Given the description of an element on the screen output the (x, y) to click on. 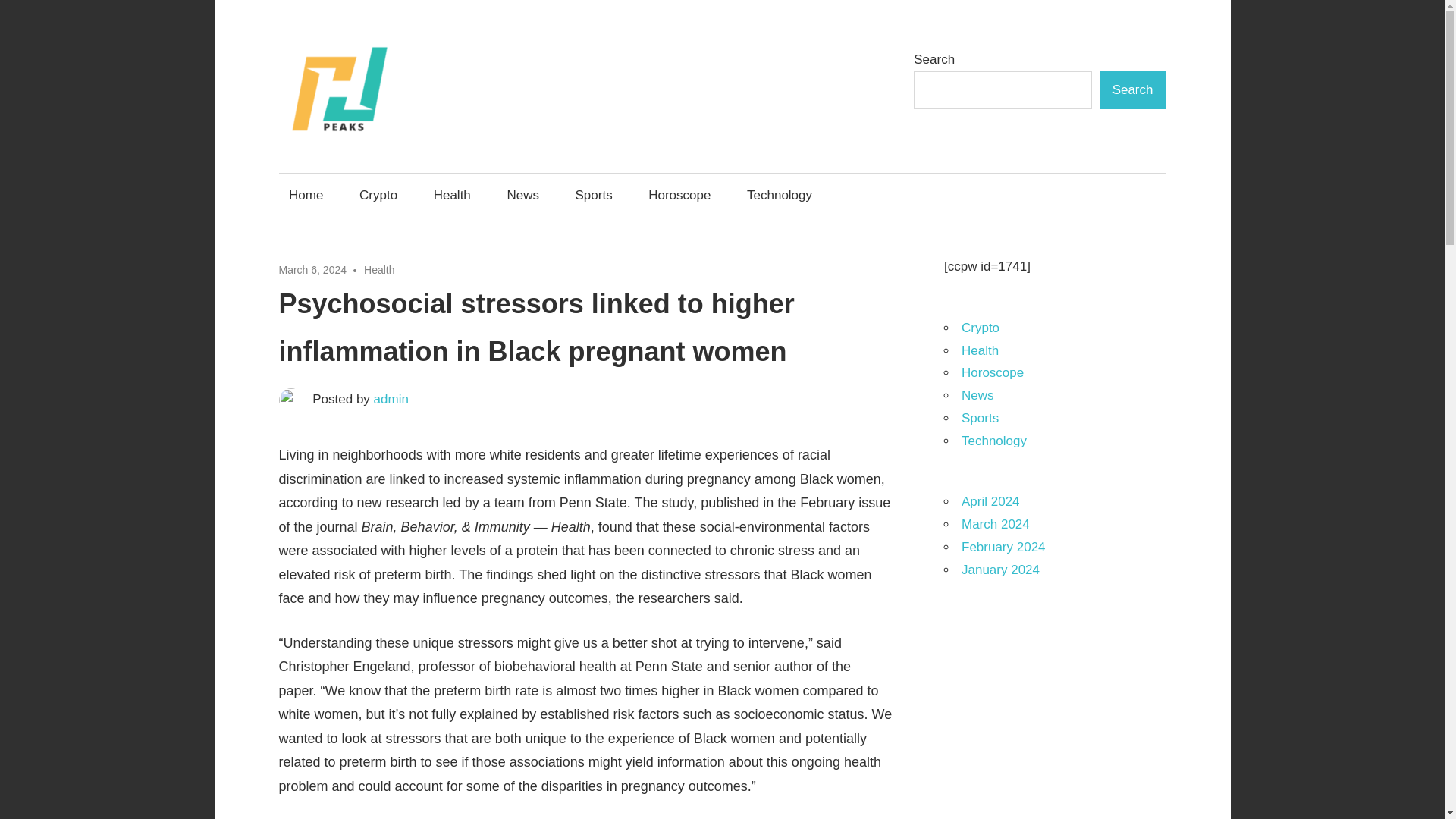
News (523, 194)
January 2024 (999, 569)
Sports (593, 194)
Horoscope (991, 372)
March 2024 (994, 523)
Technology (993, 440)
View all posts by admin (391, 399)
admin (391, 399)
Crypto (979, 327)
Technology (779, 194)
Sports (979, 418)
March 6, 2024 (313, 269)
February 2024 (1002, 546)
Search (1132, 89)
10:59 pm (313, 269)
